Given the description of an element on the screen output the (x, y) to click on. 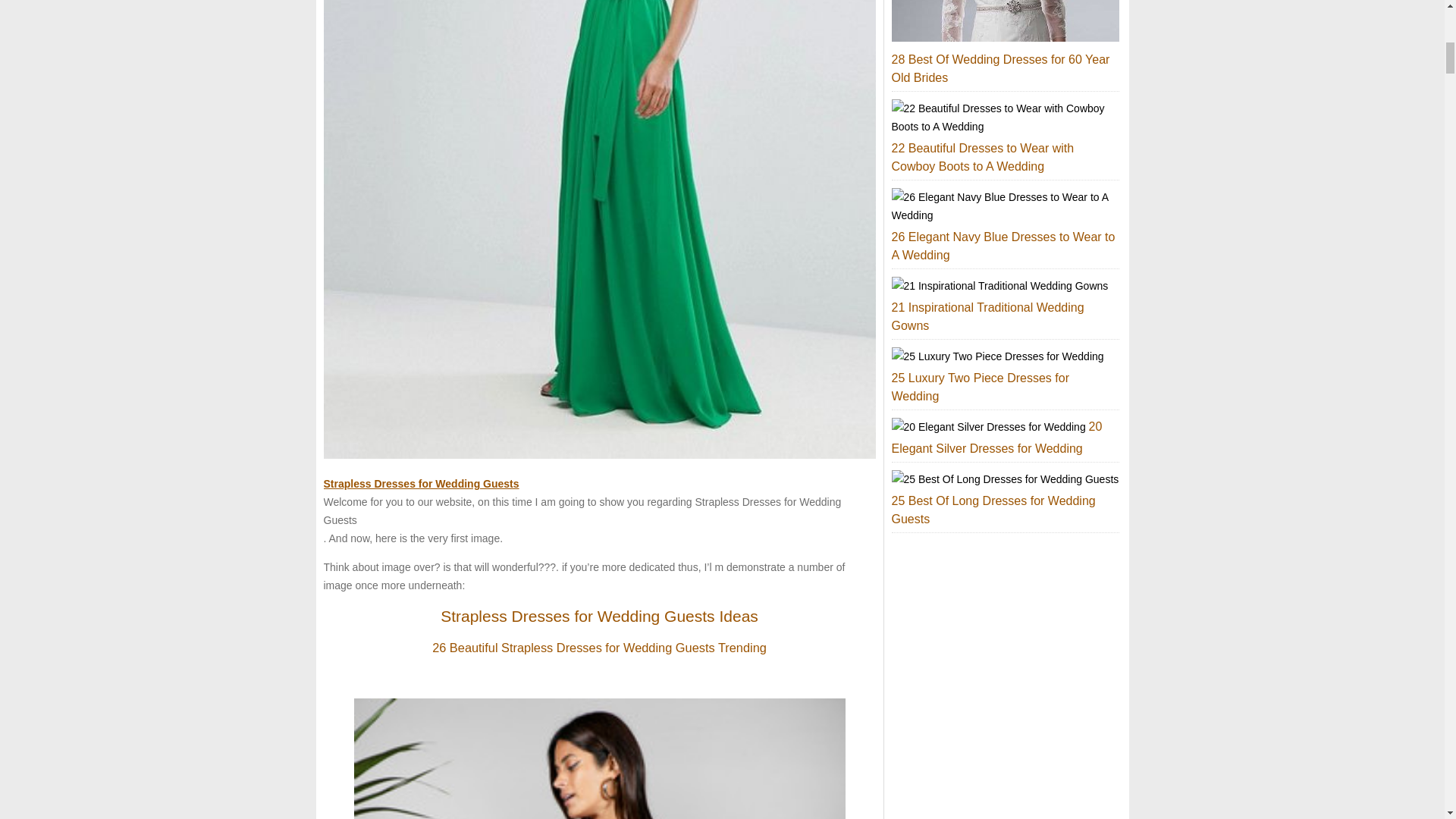
26 Elegant Navy Blue Dresses to Wear to A Wedding (1003, 245)
28 Best Of Wedding Dresses for 60 Year Old Brides (1000, 68)
Strapless Dresses for Wedding Guests (420, 483)
Strapless Dresses for Wedding Guests (420, 483)
22 Beautiful Dresses to Wear with Cowboy Boots to A Wedding (982, 156)
